Given the description of an element on the screen output the (x, y) to click on. 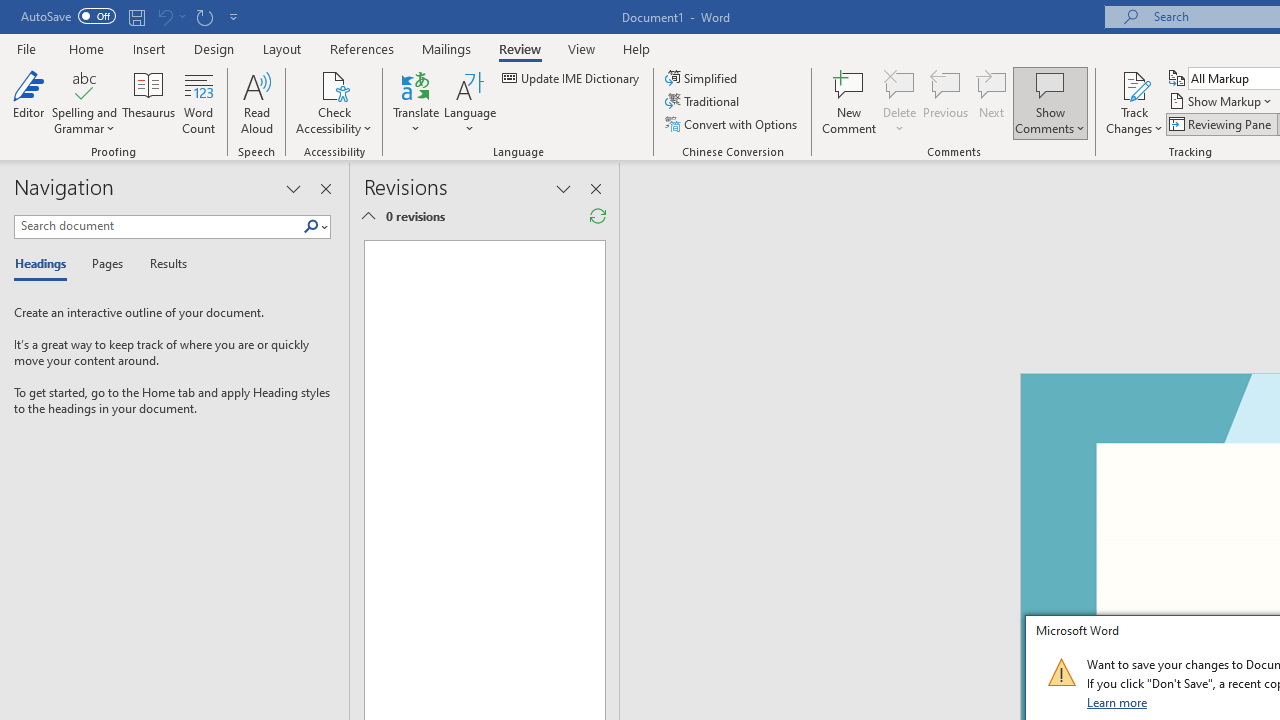
Headings (45, 264)
Update IME Dictionary... (572, 78)
Reviewing Pane (1221, 124)
Spelling and Grammar (84, 102)
Can't Undo (164, 15)
Thesaurus... (148, 102)
